Given the description of an element on the screen output the (x, y) to click on. 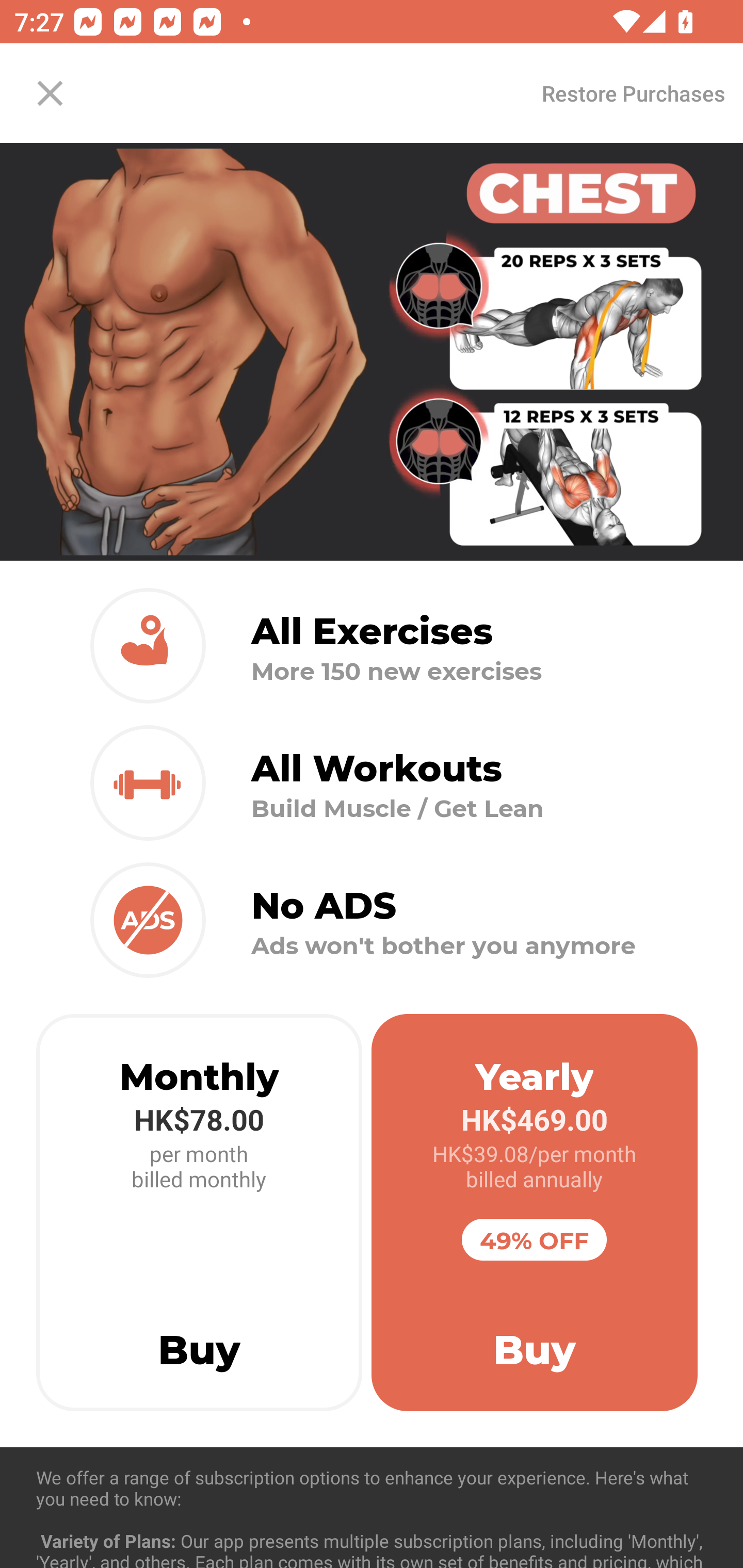
Restore Purchases (632, 92)
Monthly HK$78.00 per month
billed monthly Buy (199, 1212)
